Given the description of an element on the screen output the (x, y) to click on. 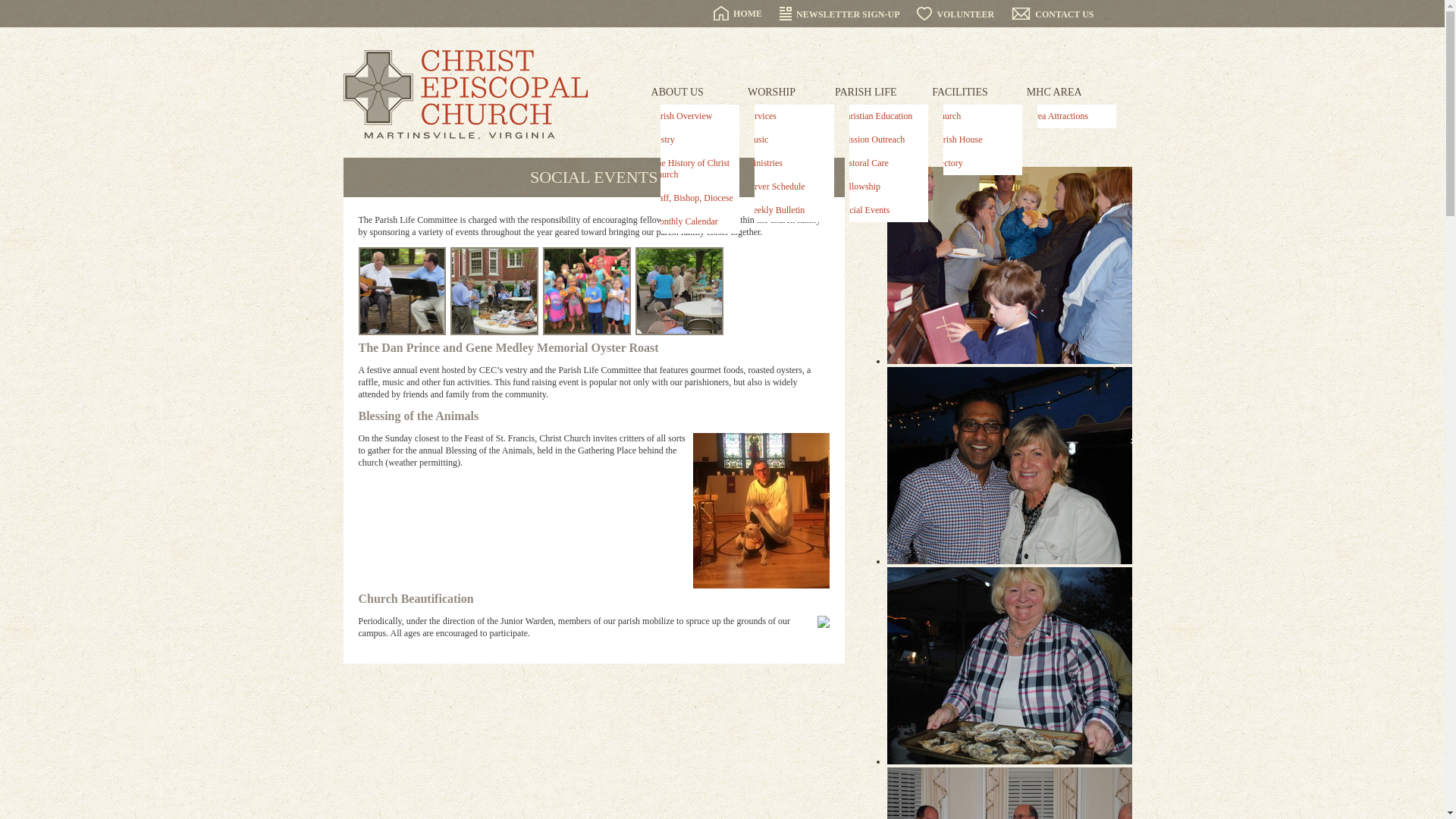
The History of Christ Church (692, 168)
Music (785, 139)
Ministries (785, 163)
Monthly Calendar (692, 221)
Server Schedule (785, 187)
Pastoral Care (881, 163)
Services (785, 115)
FACILITIES (959, 92)
Weekly Bulletin (785, 210)
Christian Education (881, 115)
Social Events (881, 210)
CONTACT US (1052, 14)
Staff, Bishop, Diocese (692, 197)
Mission Outreach (881, 139)
MHC AREA (1053, 92)
